Given the description of an element on the screen output the (x, y) to click on. 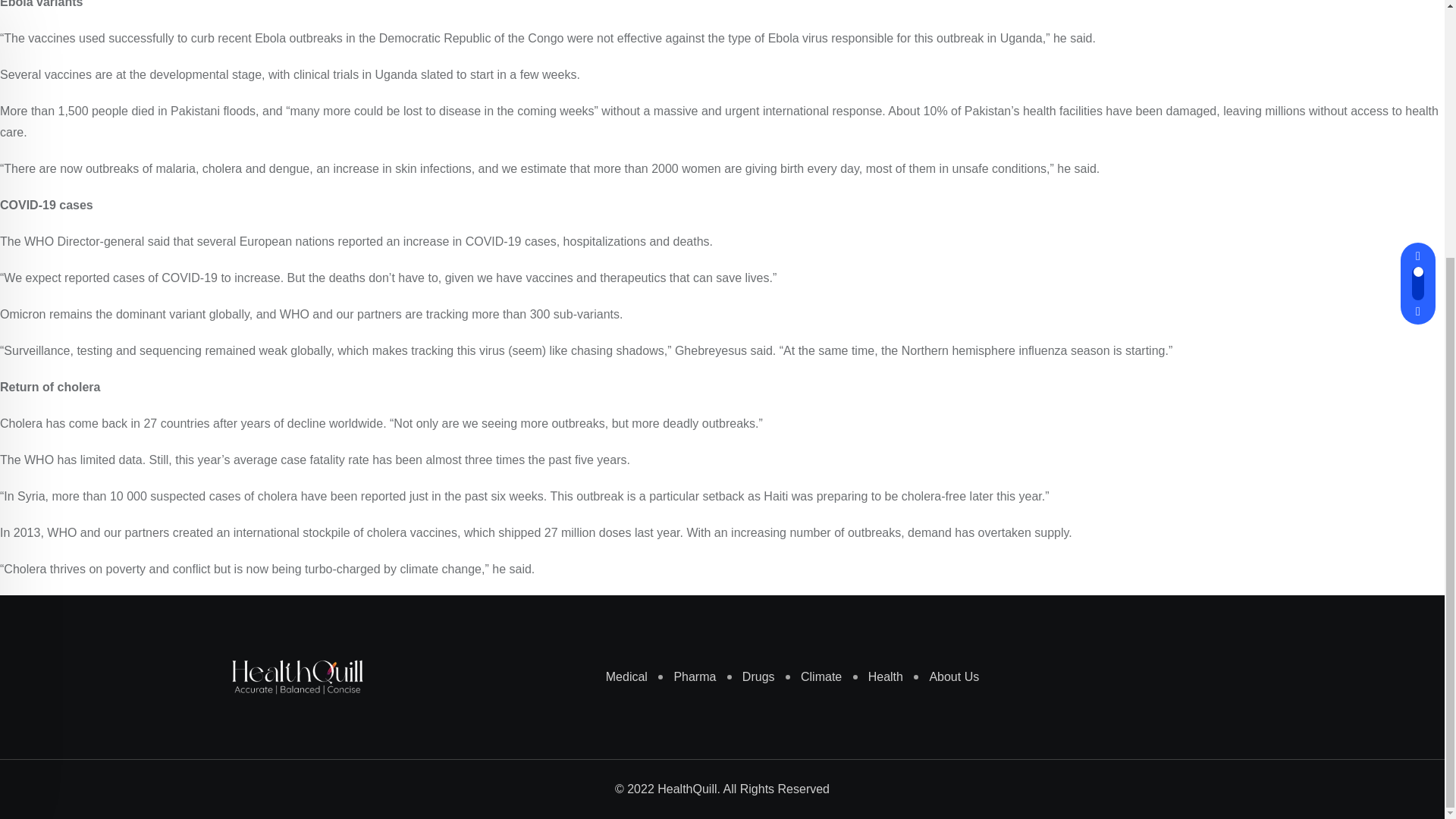
About Us (946, 309)
Medical (619, 309)
Drugs (750, 309)
Pharma (687, 309)
Climate (813, 309)
Health (877, 309)
